Given the description of an element on the screen output the (x, y) to click on. 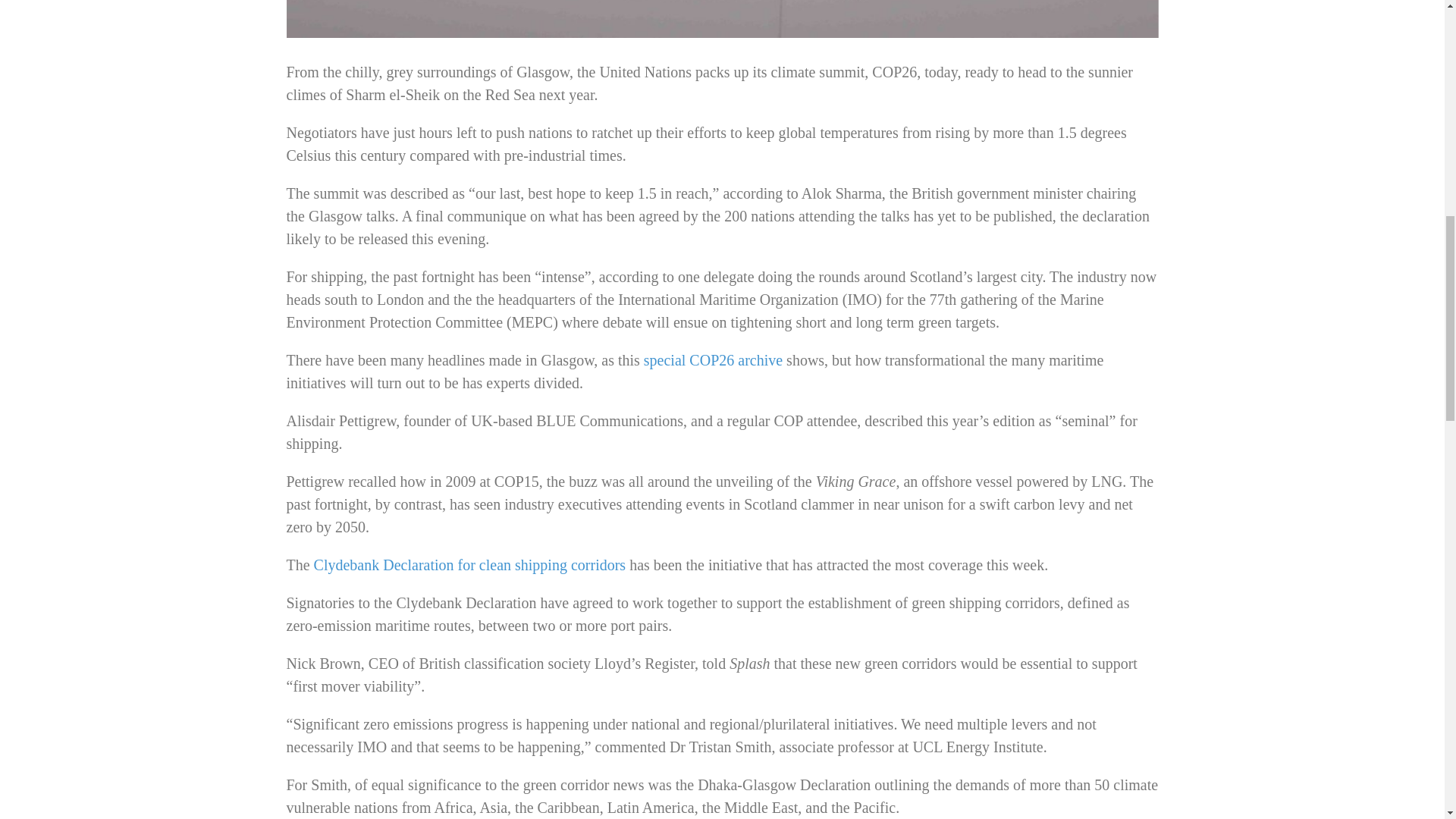
View Larger Image (722, 18)
Clydebank Declaration for clean shipping corridors (470, 564)
special COP26 archive (713, 360)
